Given the description of an element on the screen output the (x, y) to click on. 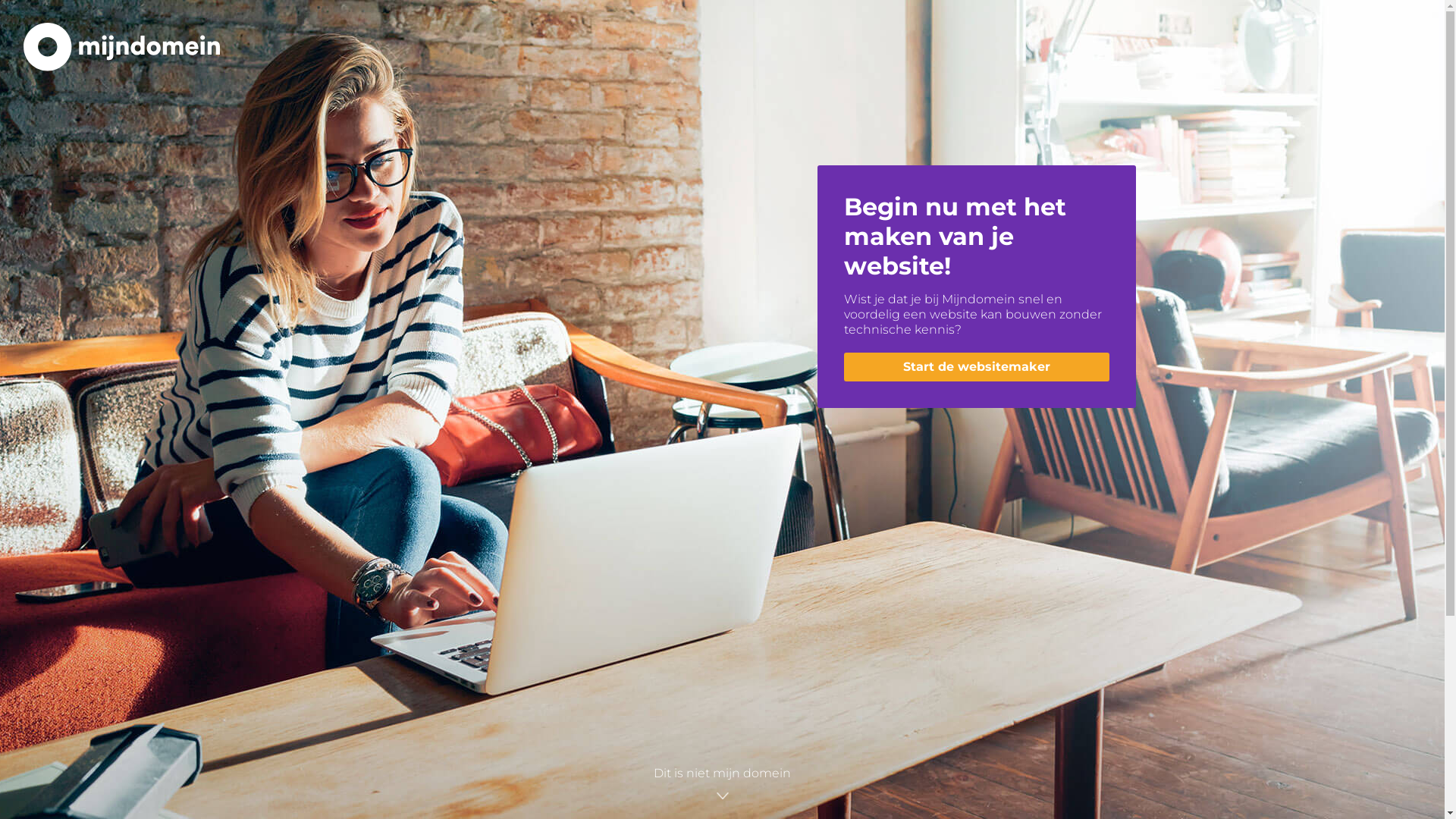
Start de websitemaker Element type: text (975, 366)
Dit is niet mijn domein Element type: text (721, 784)
